Given the description of an element on the screen output the (x, y) to click on. 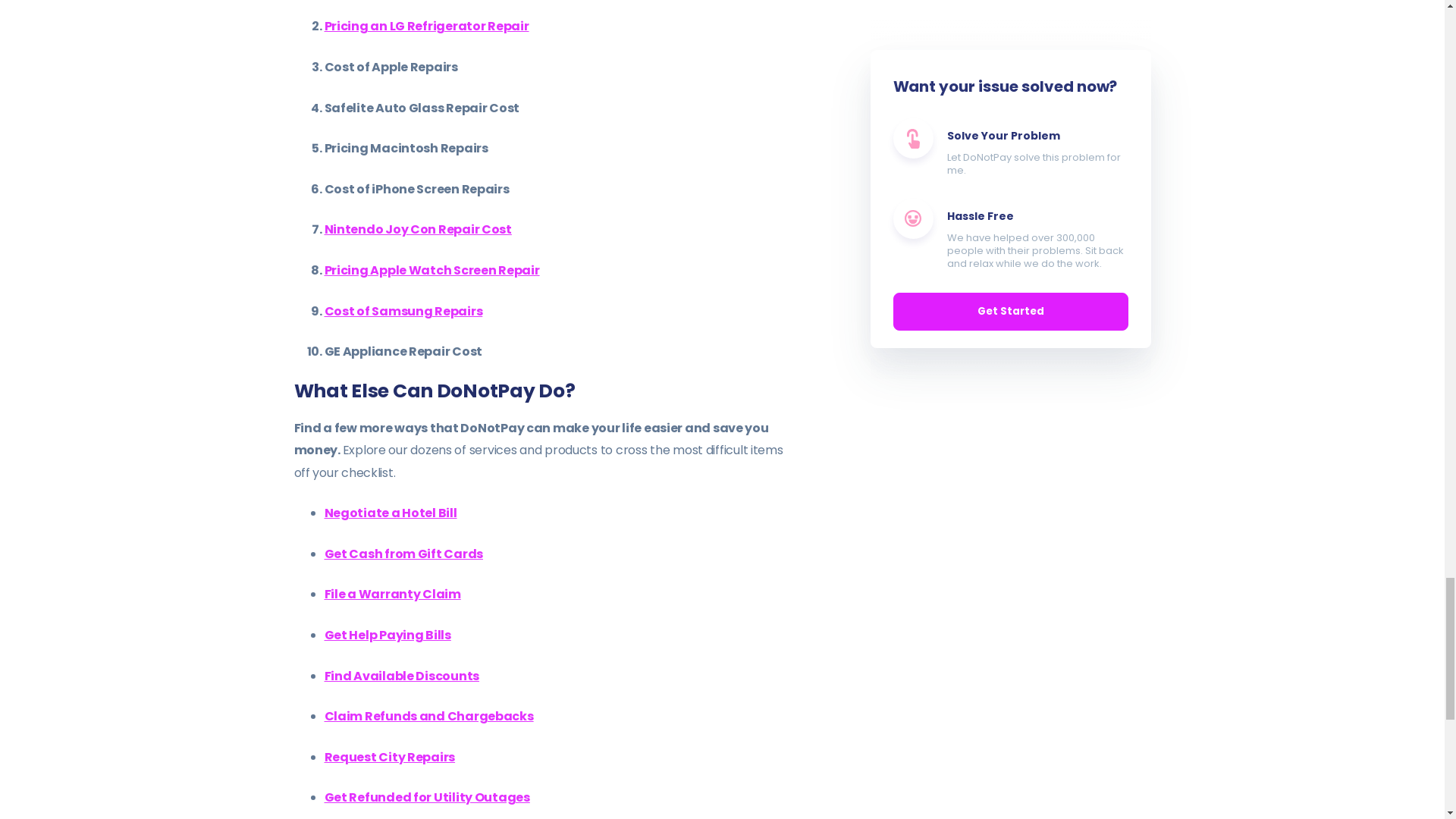
Pricing an LG Refrigerator Repair (426, 26)
Negotiate a Hotel Bill (390, 512)
Cost of Samsung Repairs (403, 311)
File a Warranty Claim (392, 593)
Get Cash from Gift Cards (403, 553)
Pricing Apple Watch Screen Repair (432, 270)
Nintendo Joy Con Repair Cost (418, 229)
